Given the description of an element on the screen output the (x, y) to click on. 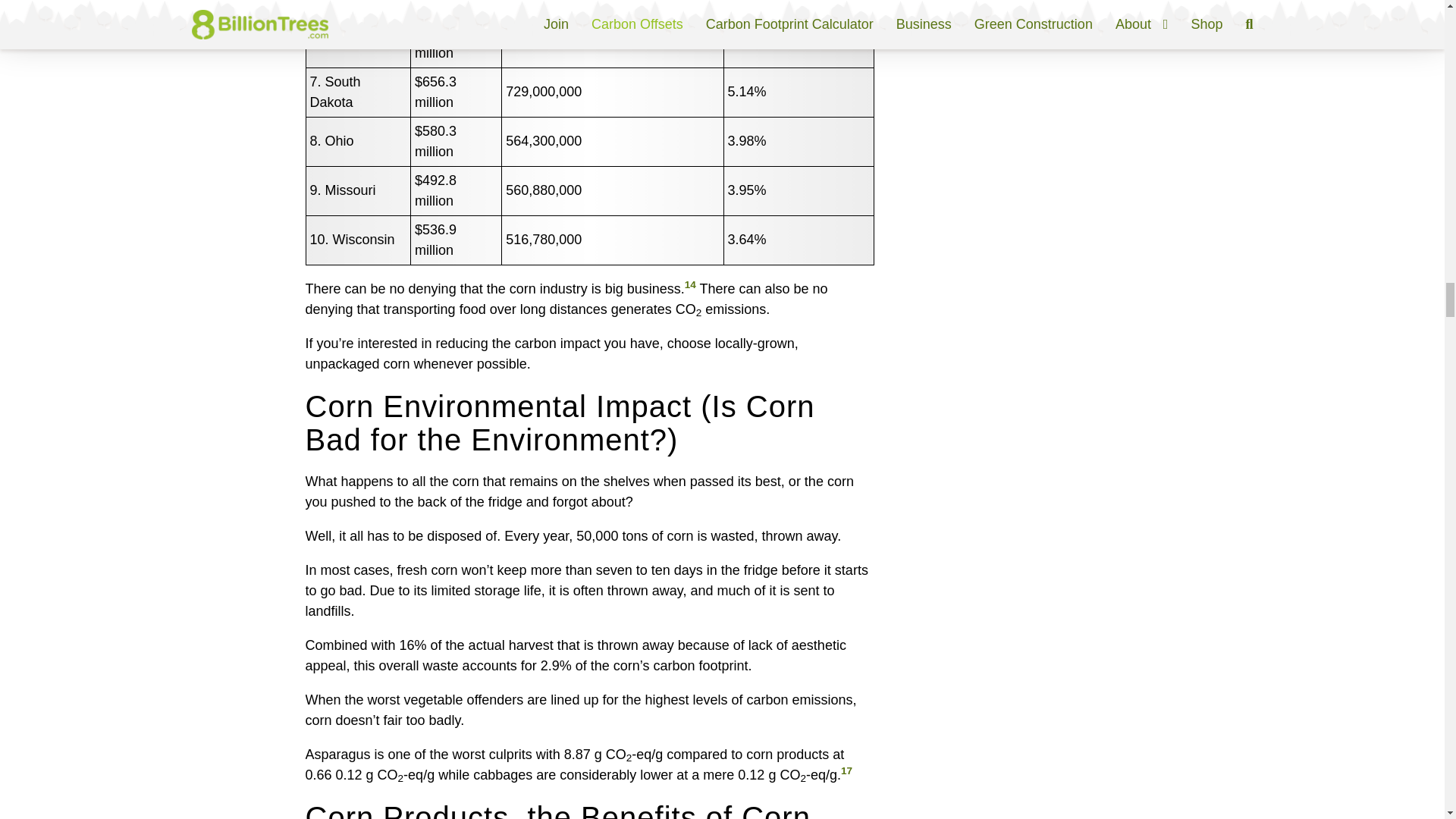
14 (689, 284)
17 (846, 770)
